Given the description of an element on the screen output the (x, y) to click on. 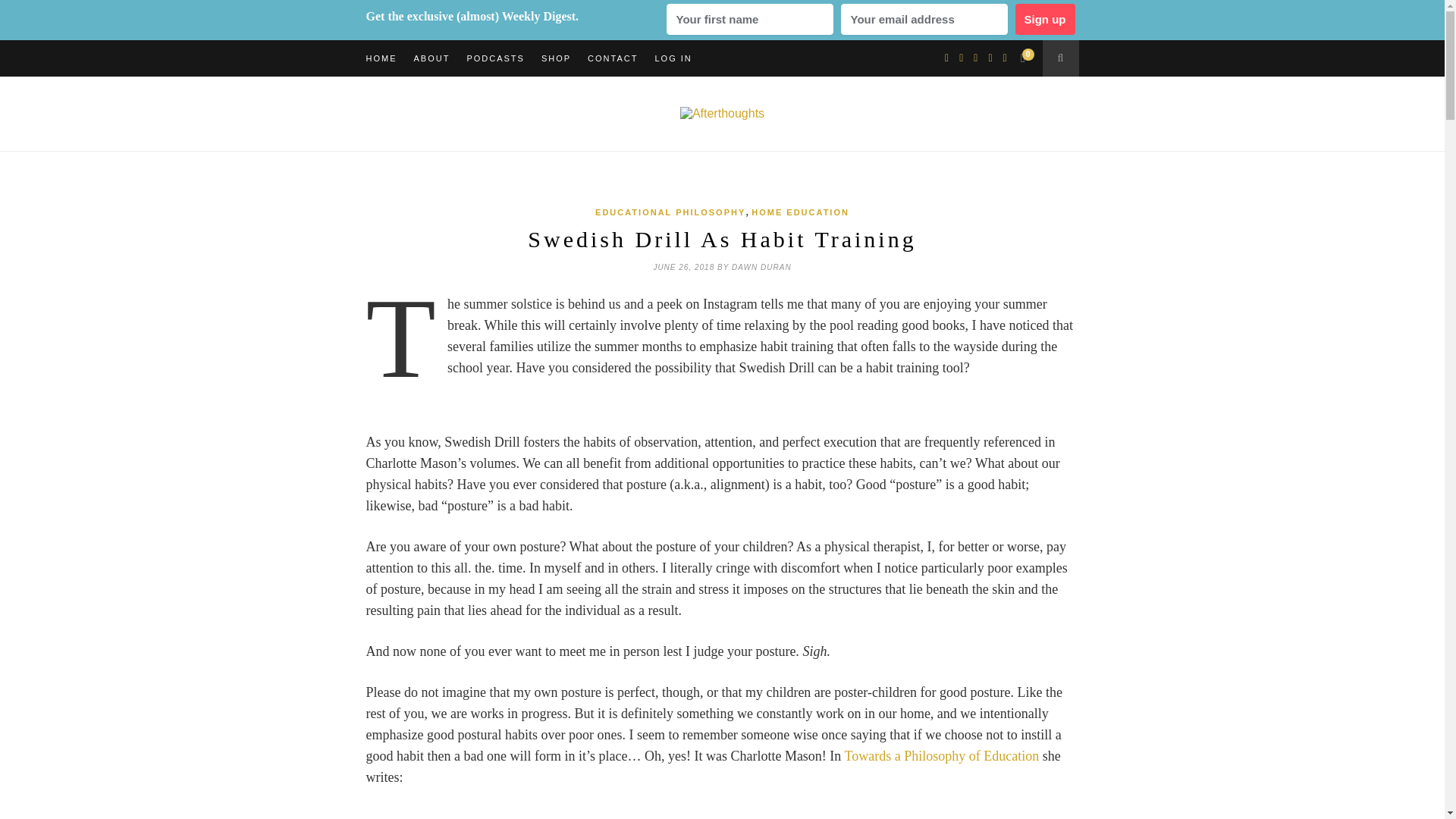
ABOUT (431, 58)
Sign up (1044, 19)
CONTACT (612, 58)
View all posts in Home Education (799, 212)
View all posts in Educational Philosophy (670, 212)
LOG IN (672, 58)
PODCASTS (494, 58)
